Given the description of an element on the screen output the (x, y) to click on. 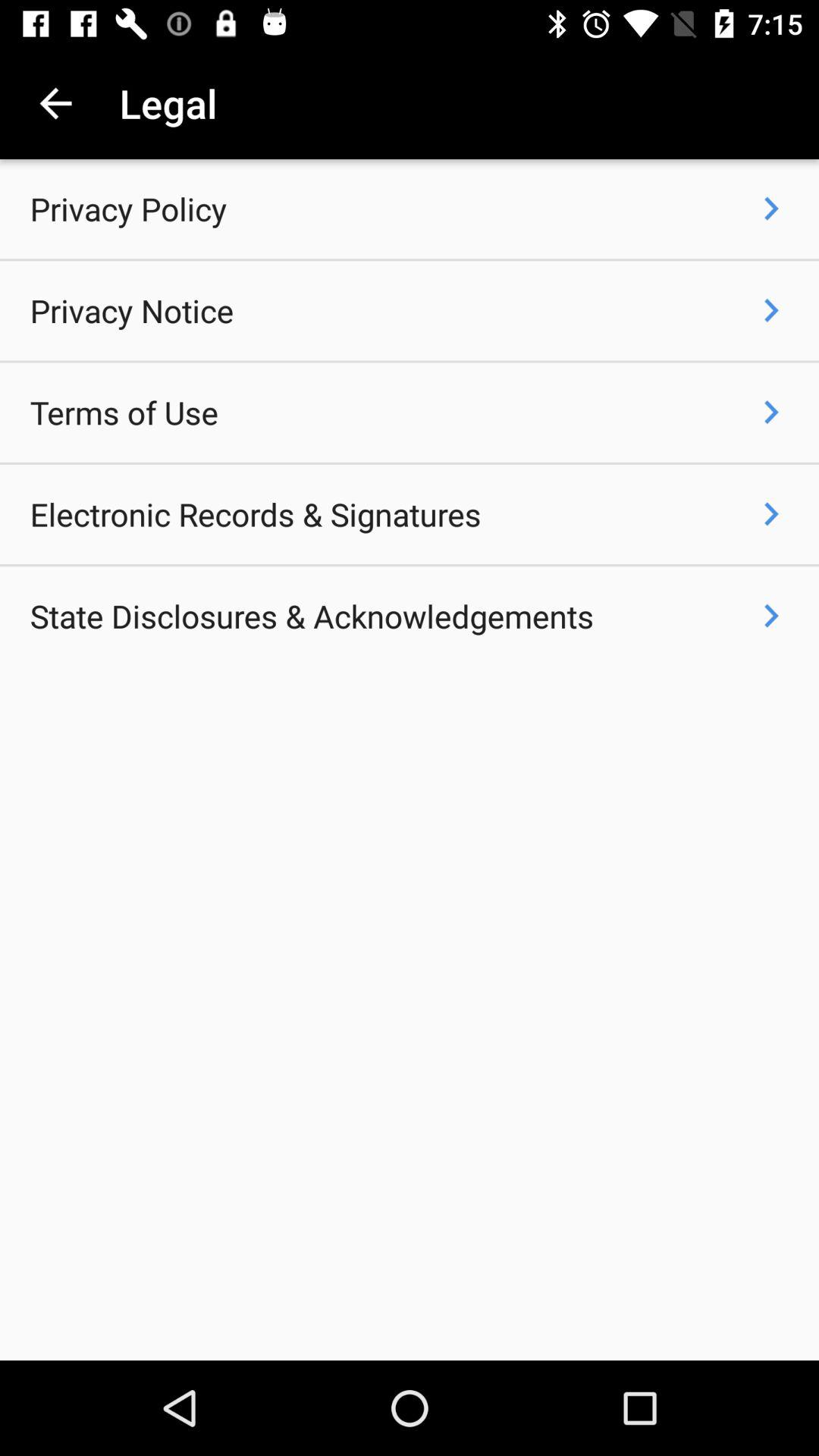
click item below the privacy notice icon (124, 412)
